Given the description of an element on the screen output the (x, y) to click on. 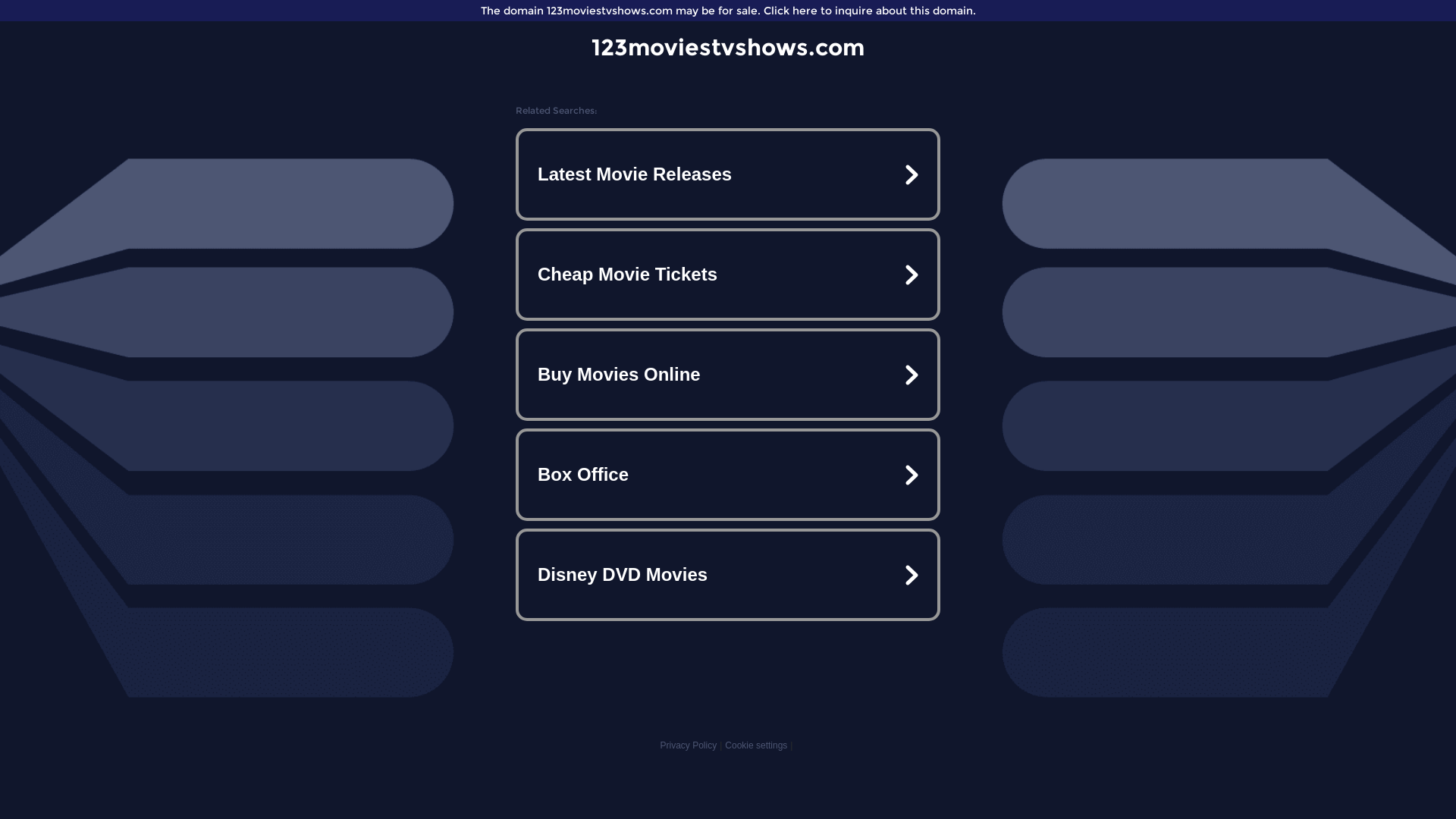
Privacy Policy Element type: text (687, 745)
Disney DVD Movies Element type: text (727, 574)
Box Office Element type: text (727, 474)
Cookie settings Element type: text (755, 745)
123moviestvshows.com Element type: text (727, 47)
Latest Movie Releases Element type: text (727, 174)
Buy Movies Online Element type: text (727, 374)
Cheap Movie Tickets Element type: text (727, 274)
